Given the description of an element on the screen output the (x, y) to click on. 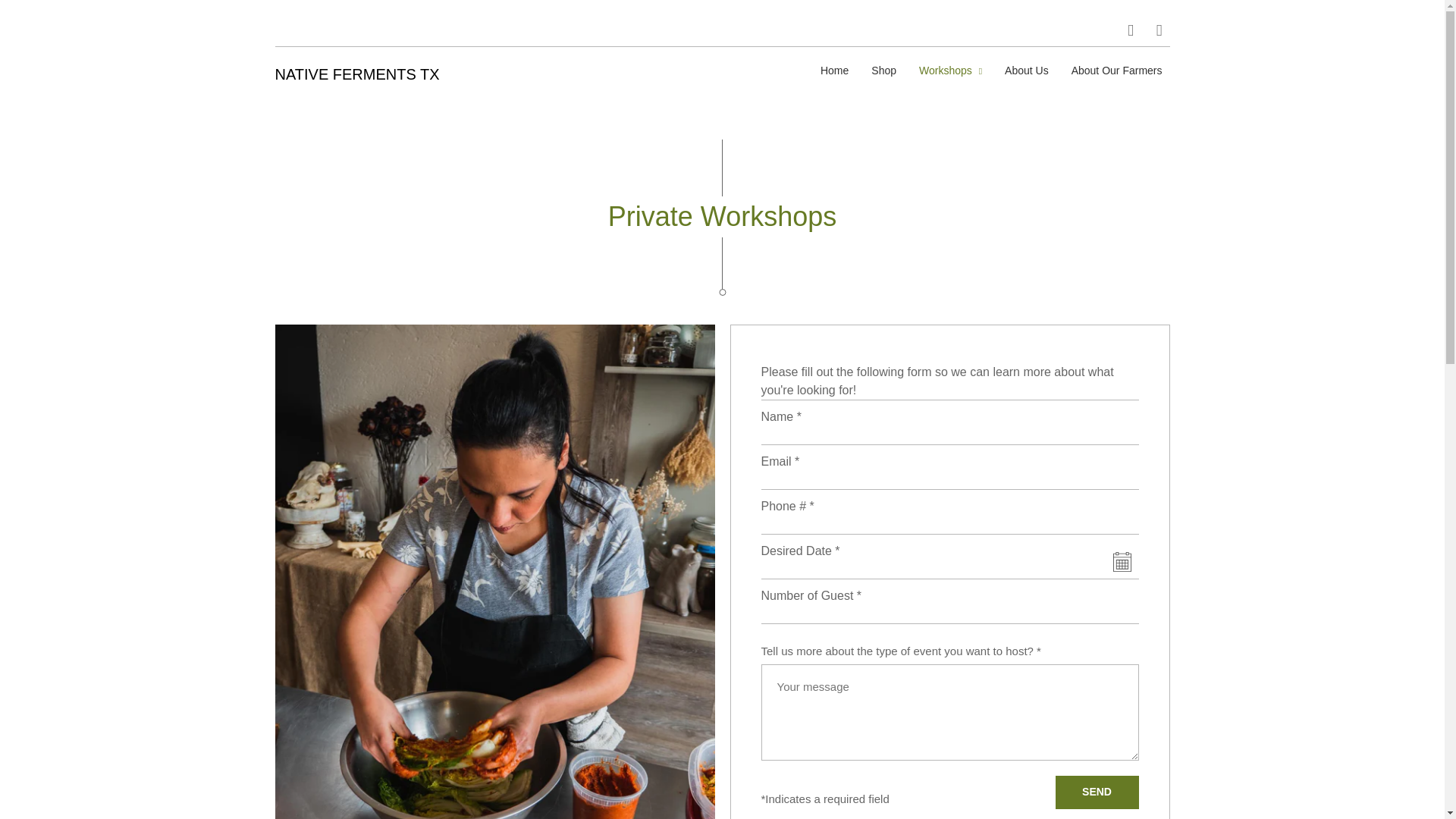
Send (1096, 791)
Shop (883, 70)
Workshops (950, 70)
About Our Farmers (1117, 70)
Home (834, 70)
About Us (1027, 70)
Send (1096, 791)
NATIVE FERMENTS TX (357, 74)
